Given the description of an element on the screen output the (x, y) to click on. 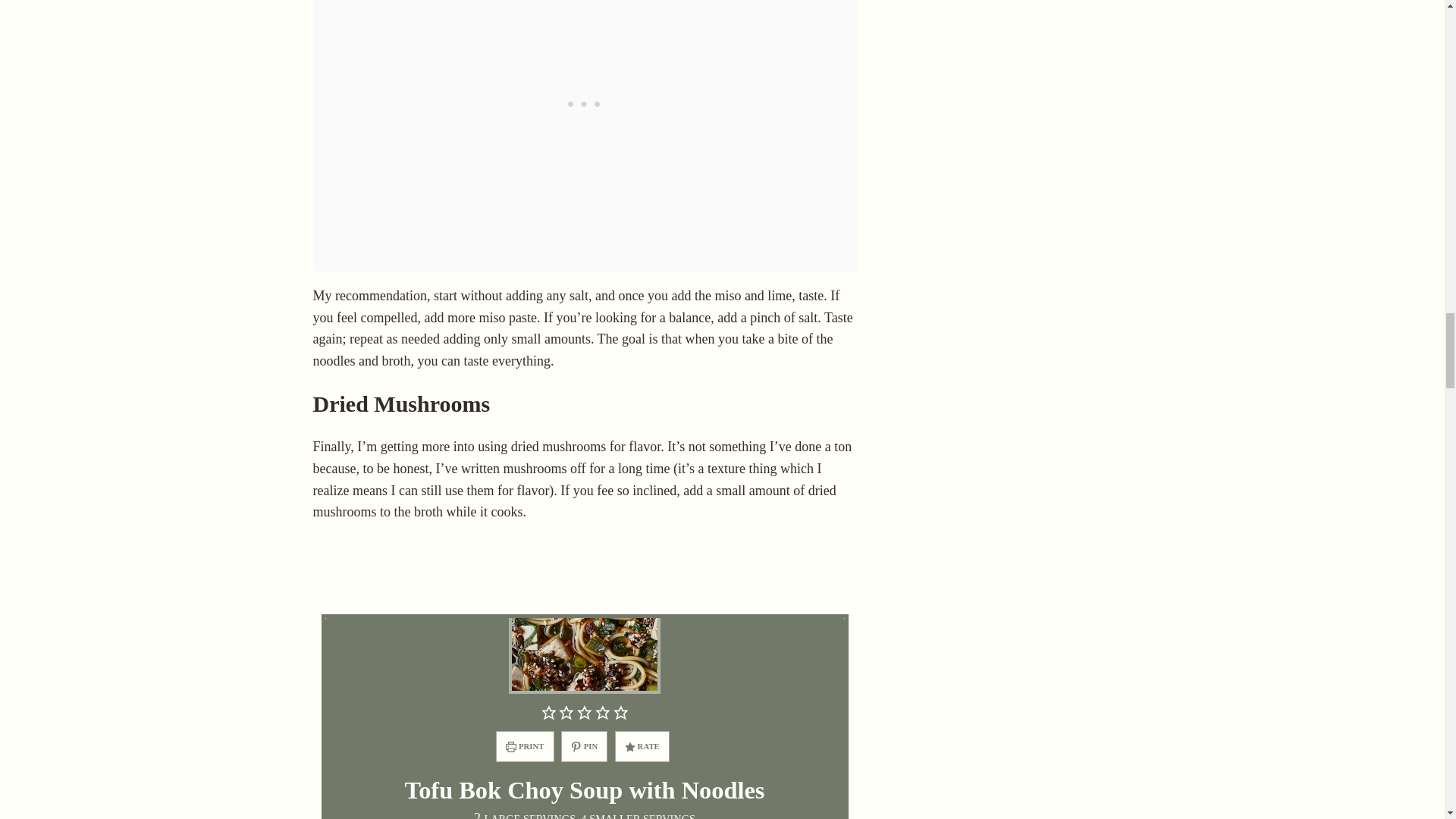
PIN (583, 746)
PRINT (524, 746)
RATE (641, 746)
